Given the description of an element on the screen output the (x, y) to click on. 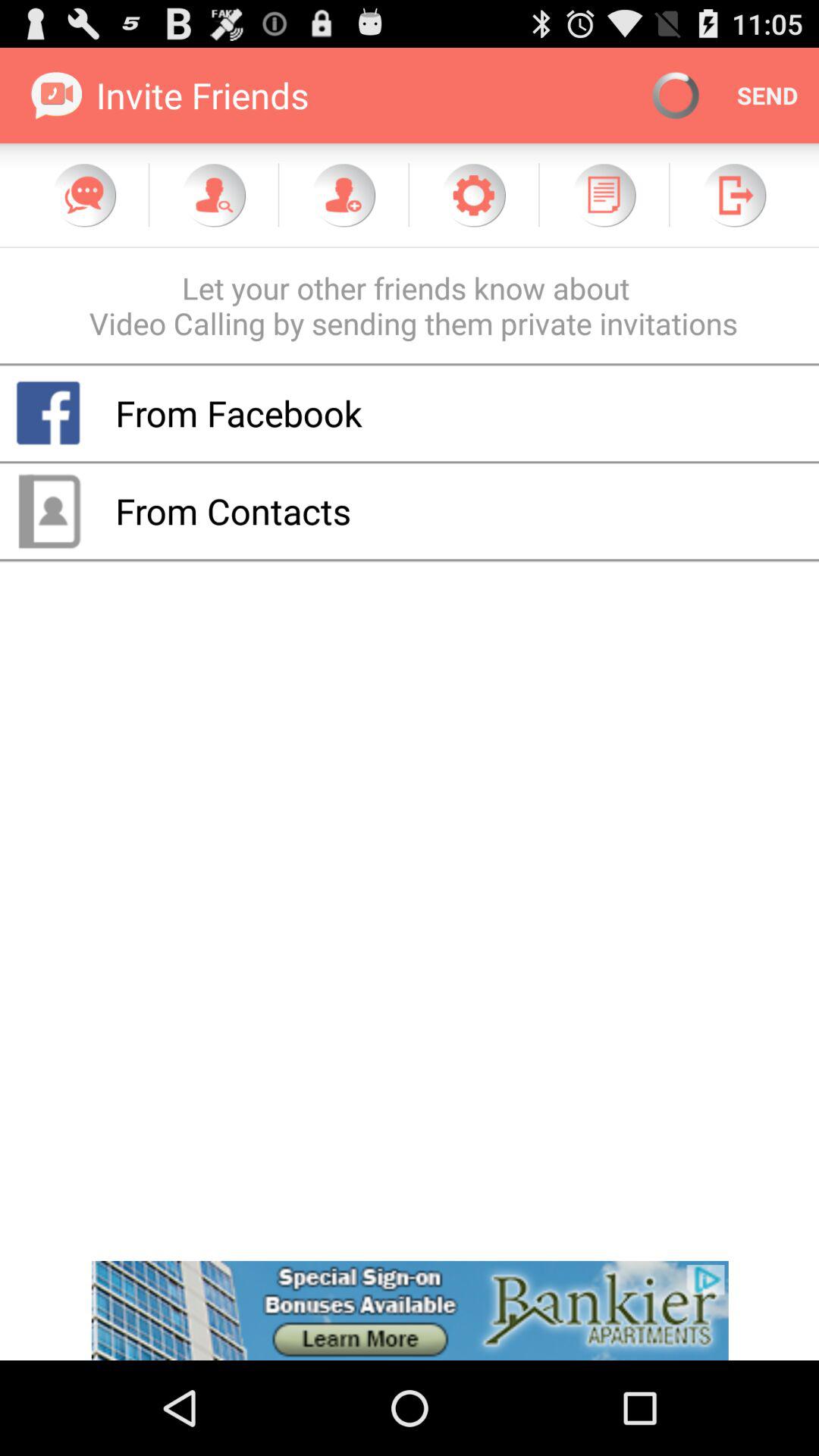
find friends (213, 194)
